Given the description of an element on the screen output the (x, y) to click on. 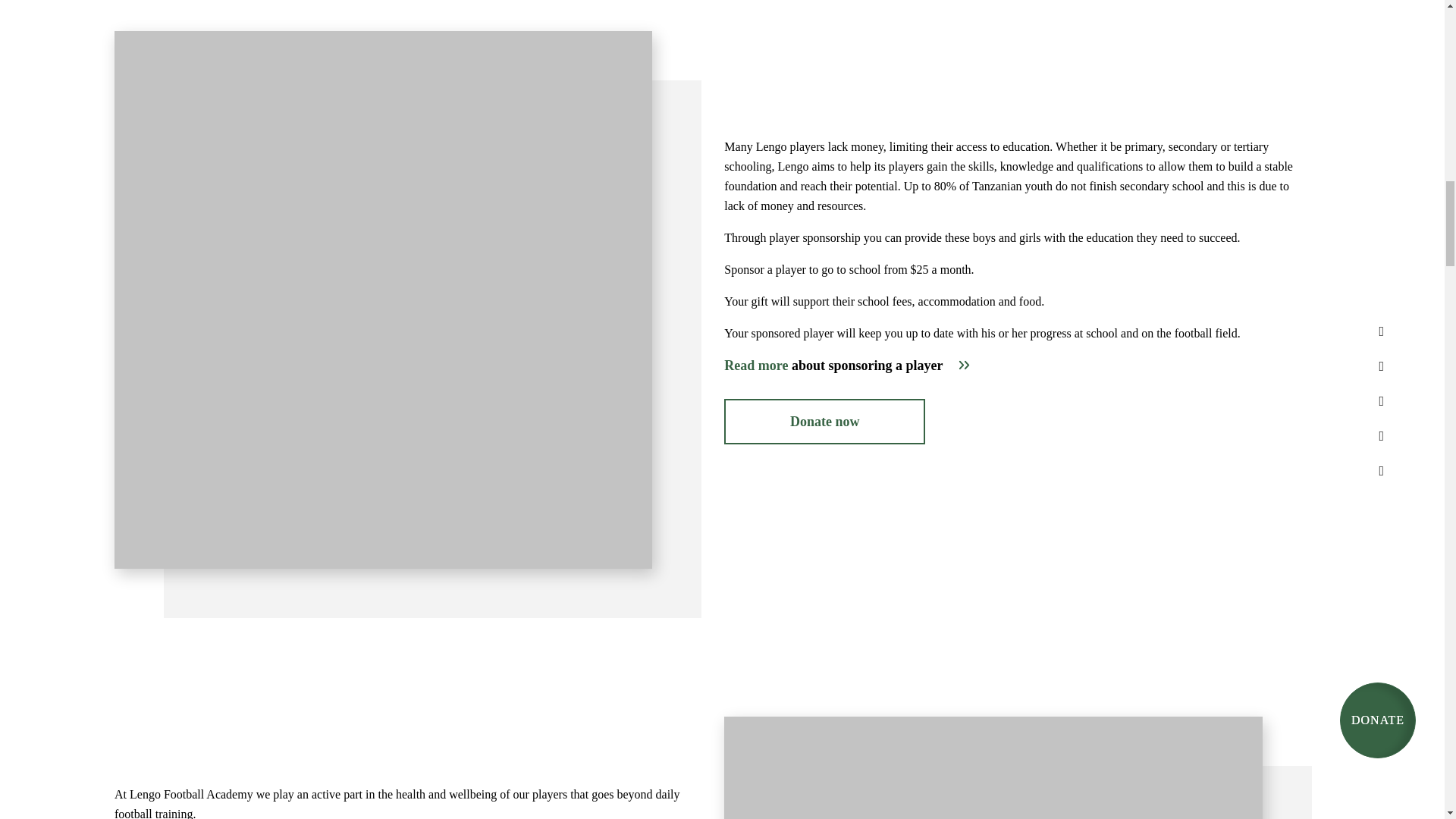
Donate now (823, 421)
Read more about sponsoring a player (846, 365)
